Given the description of an element on the screen output the (x, y) to click on. 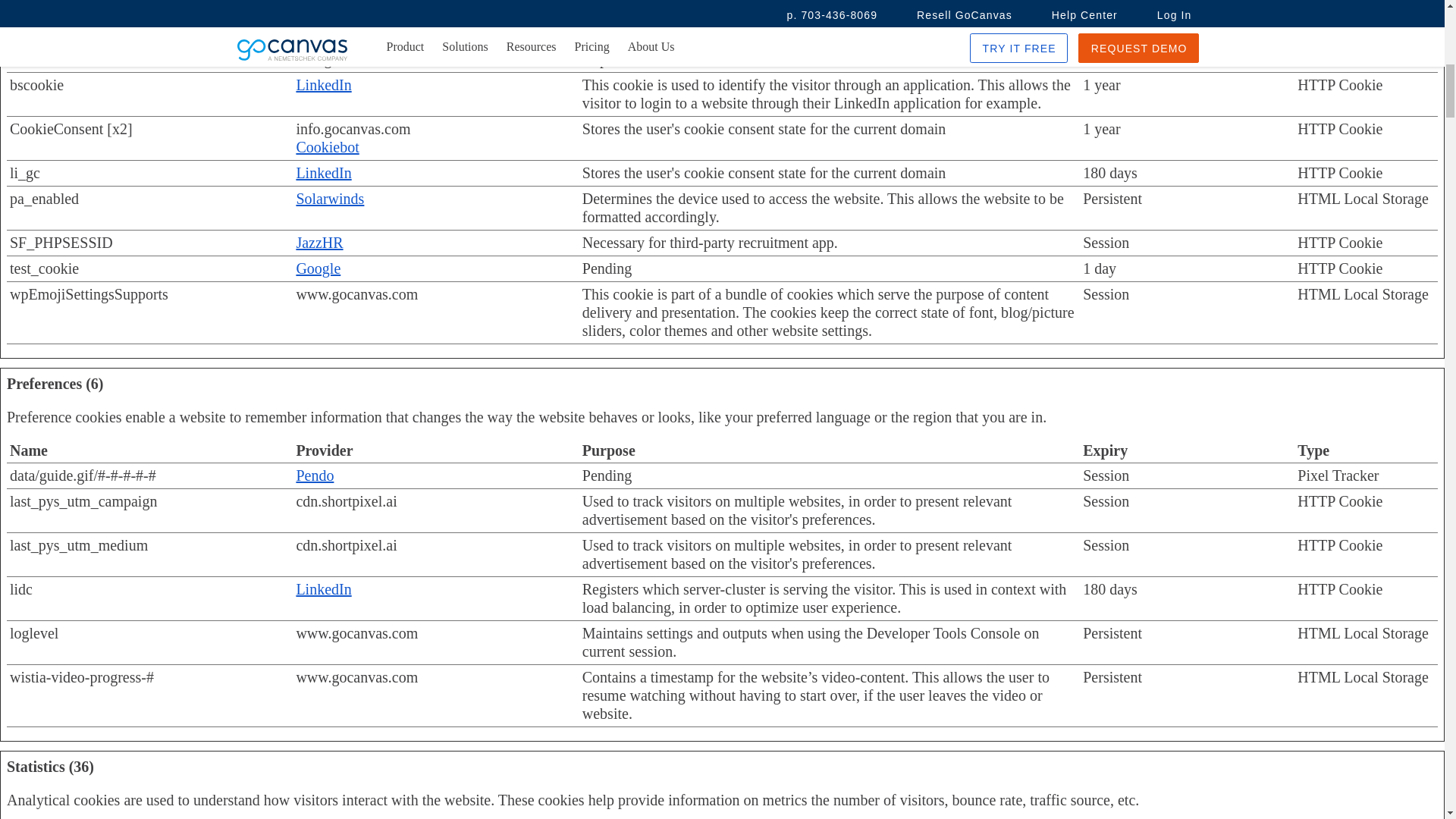
Marketo's privacy policy (321, 40)
Cookiebot (326, 146)
Pendo (314, 475)
JazzHR (318, 242)
LinkedIn (322, 84)
Cookiebot's privacy policy (326, 146)
LinkedIn's privacy policy (322, 14)
LinkedIn (322, 172)
Solarwinds's privacy policy (329, 198)
LinkedIn's privacy policy (322, 172)
